Given the description of an element on the screen output the (x, y) to click on. 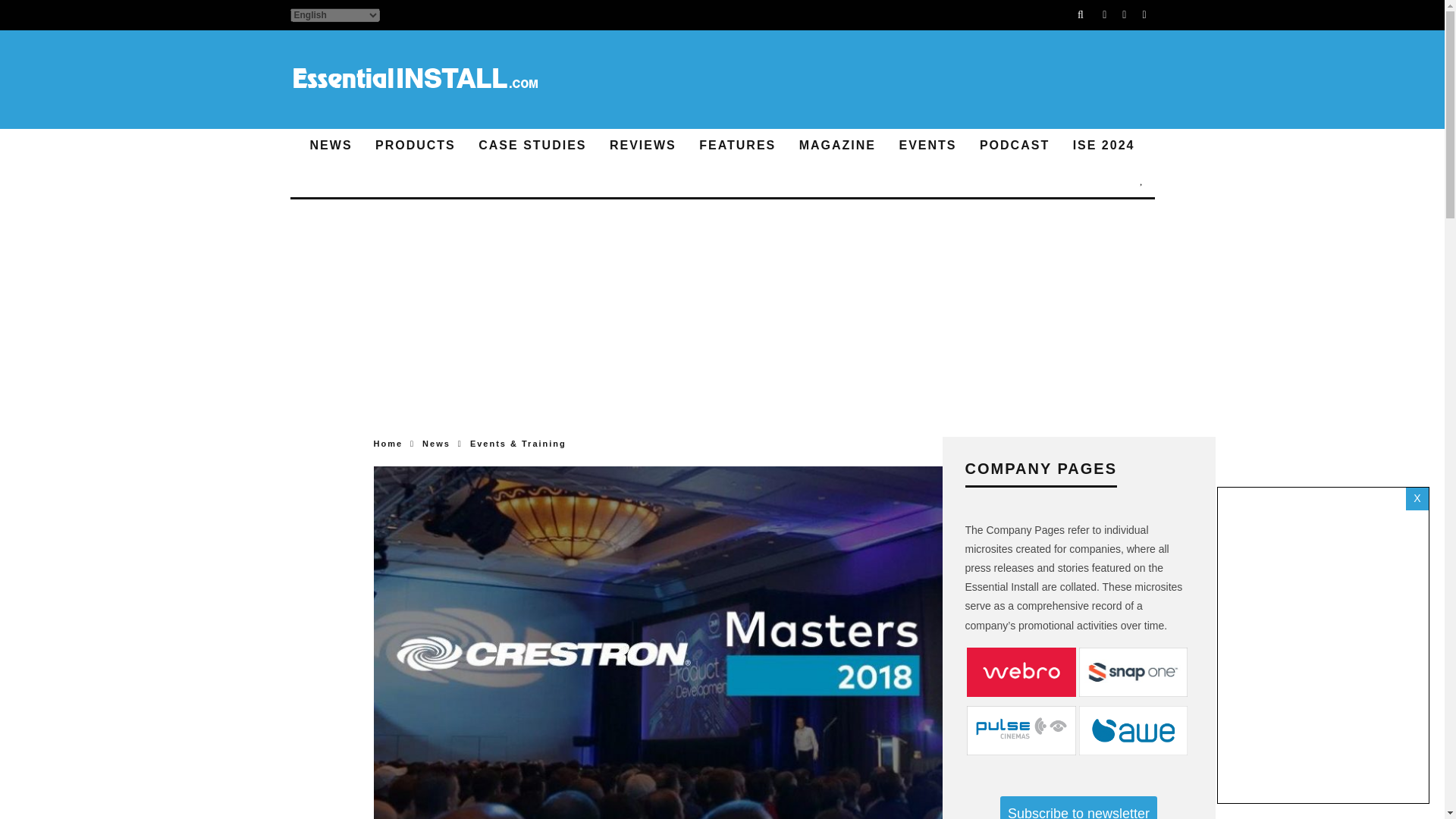
3rd party ad content (721, 255)
3rd party ad content (721, 357)
View all posts in News (435, 442)
NEWS (331, 145)
EVENTS (927, 145)
MAGAZINE (837, 145)
PRODUCTS (415, 145)
Log In (721, 409)
CASE STUDIES (531, 145)
FEATURES (737, 145)
PODCAST (1014, 145)
3rd party ad content (878, 79)
REVIEWS (642, 145)
